Given the description of an element on the screen output the (x, y) to click on. 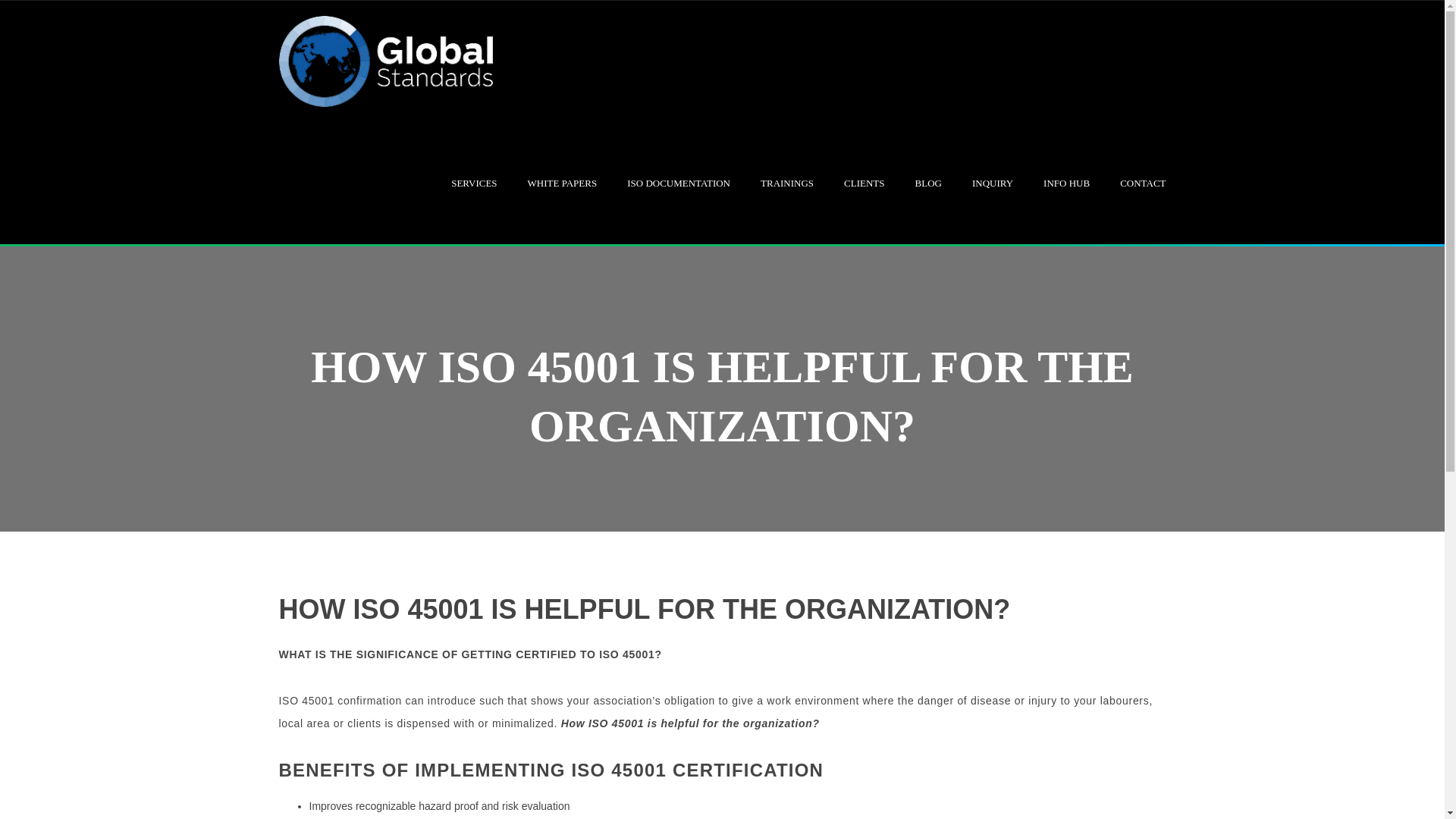
INFO HUB (1066, 183)
BLOG (928, 183)
INQUIRY (992, 183)
CONTACT (1142, 183)
TRAININGS (786, 183)
ISO DOCUMENTATION (678, 183)
WHITE PAPERS (561, 183)
SERVICES (473, 183)
CLIENTS (863, 183)
